Given the description of an element on the screen output the (x, y) to click on. 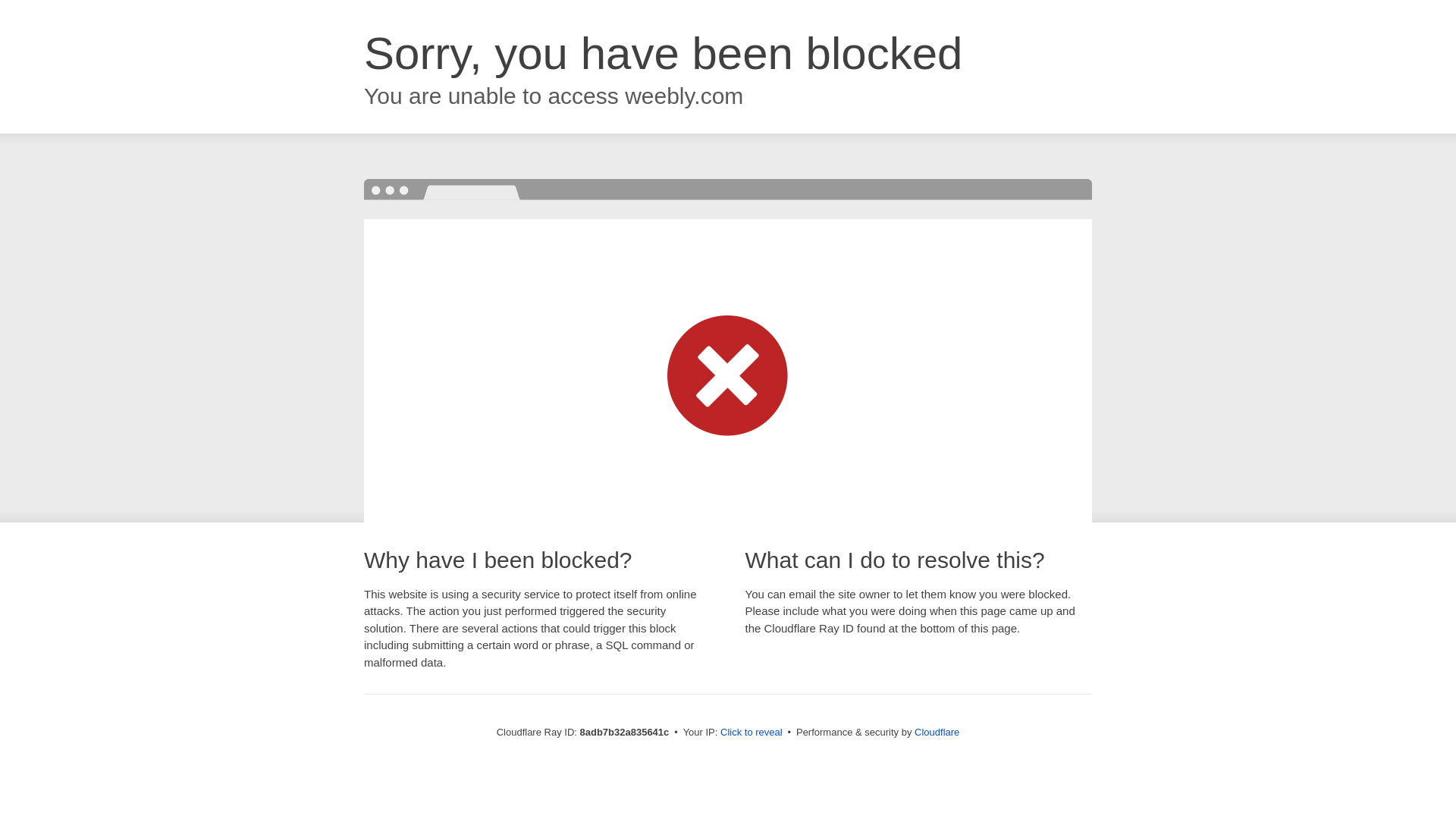
Cloudflare (936, 731)
Click to reveal (751, 732)
